Given the description of an element on the screen output the (x, y) to click on. 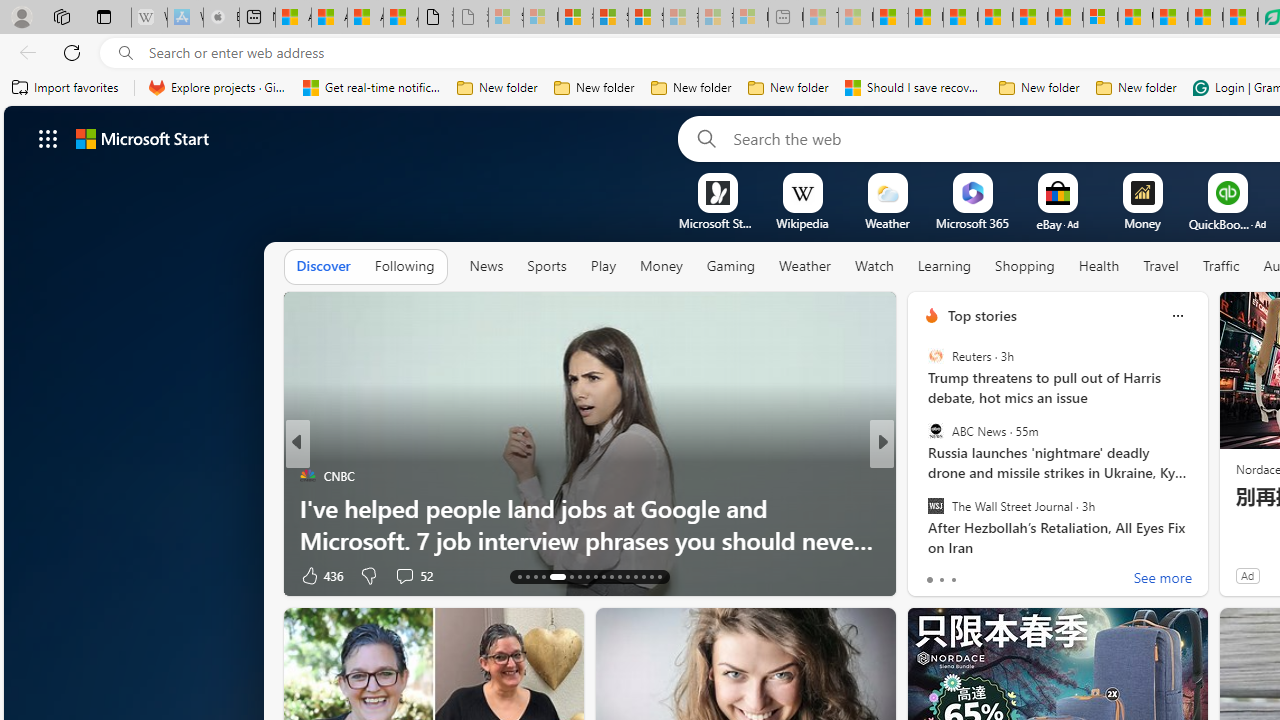
Import favorites (65, 88)
AutomationID: tab-19 (578, 576)
AutomationID: tab-17 (557, 576)
AutomationID: tab-22 (603, 576)
Foo BAR | Trusted Community Engagement and Contributions (1065, 17)
